Given the description of an element on the screen output the (x, y) to click on. 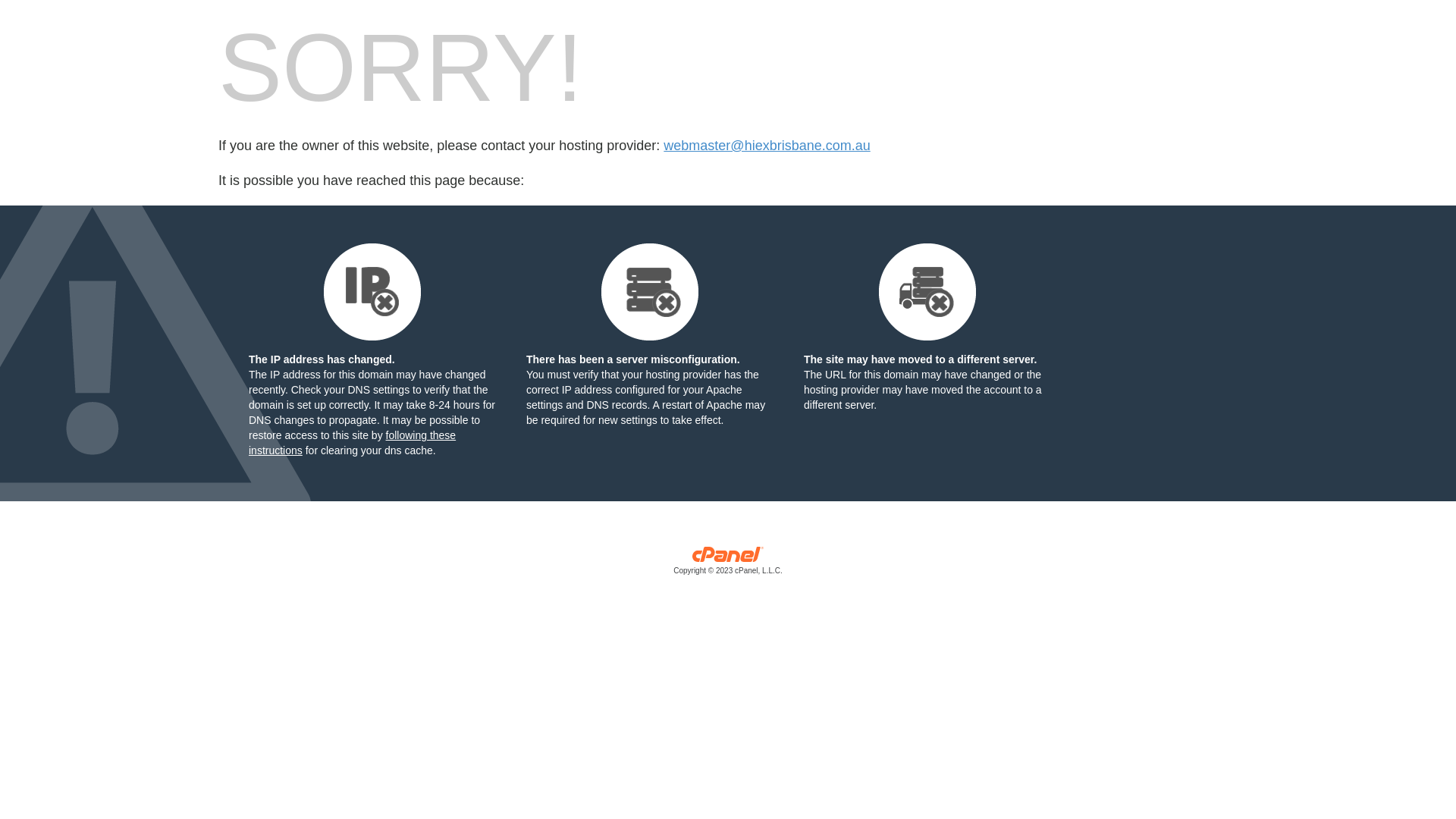
following these instructions Element type: text (351, 442)
webmaster@hiexbrisbane.com.au Element type: text (766, 145)
